Given the description of an element on the screen output the (x, y) to click on. 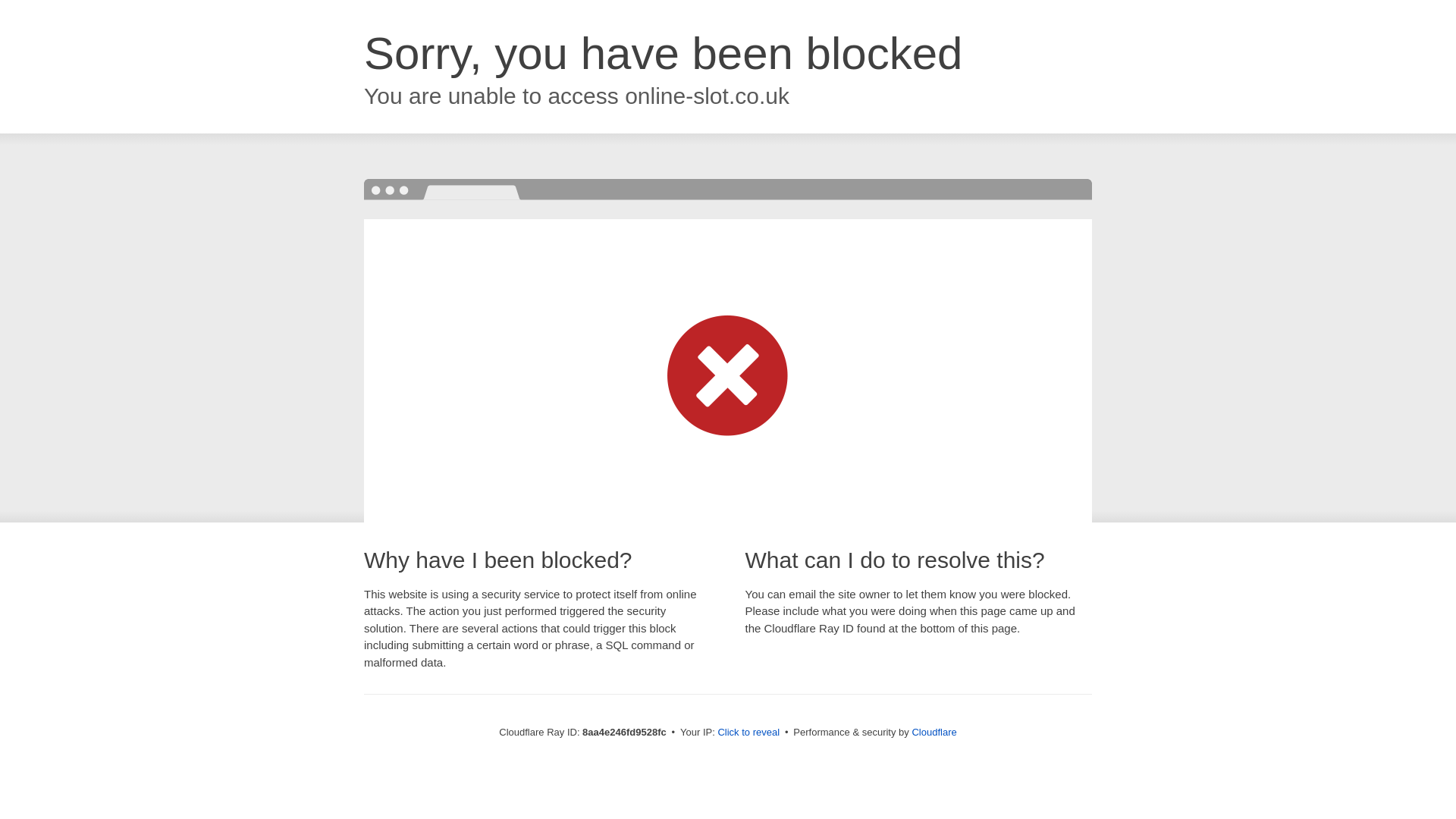
Click to reveal (747, 732)
Cloudflare (933, 731)
